Given the description of an element on the screen output the (x, y) to click on. 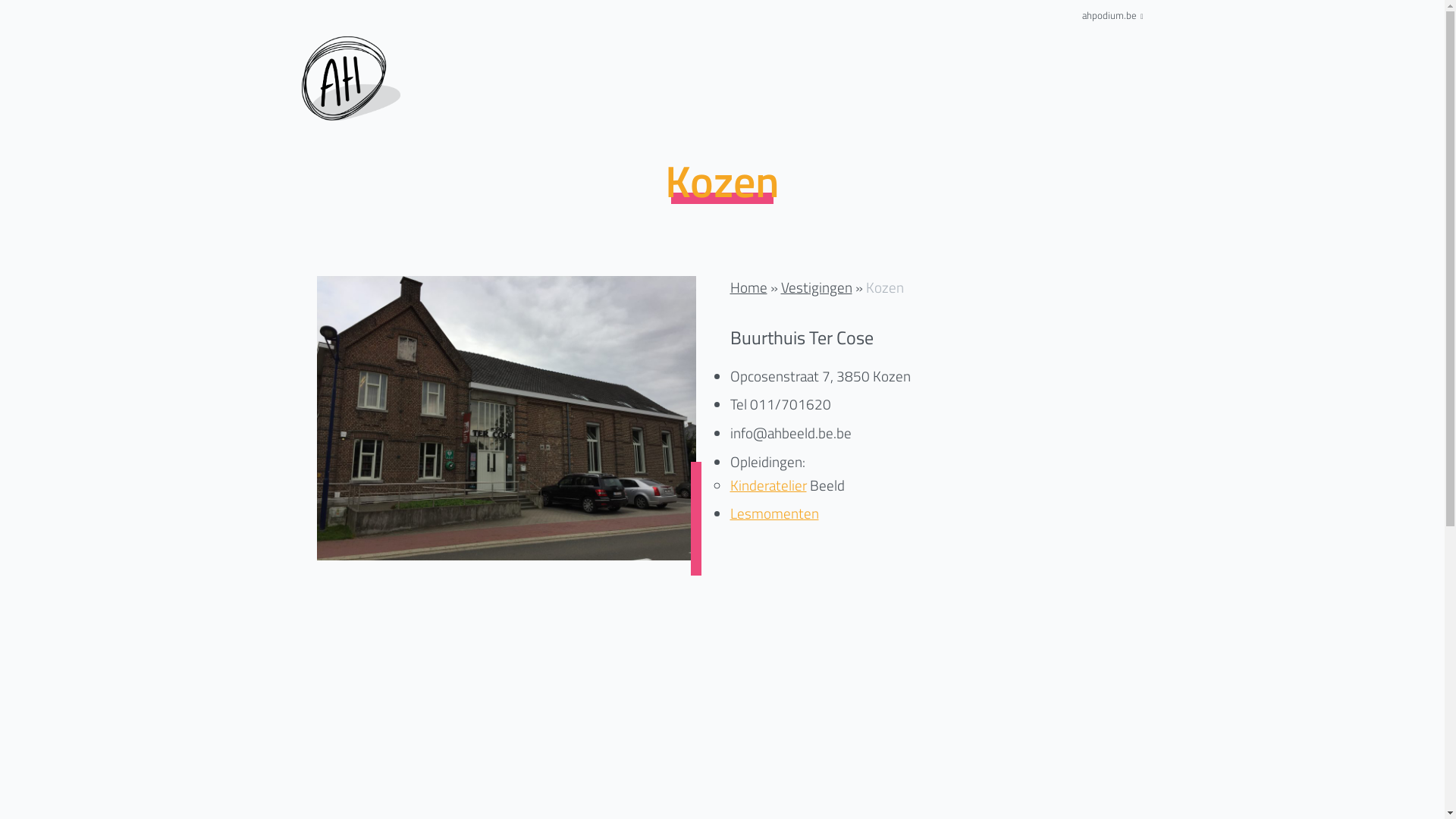
Lesmomenten Element type: text (773, 513)
Zoeken Element type: text (958, 319)
Vestigingen Element type: text (816, 287)
ahpodium.be Element type: text (1112, 14)
Home Element type: text (747, 287)
Kinderatelier Element type: text (767, 484)
